Given the description of an element on the screen output the (x, y) to click on. 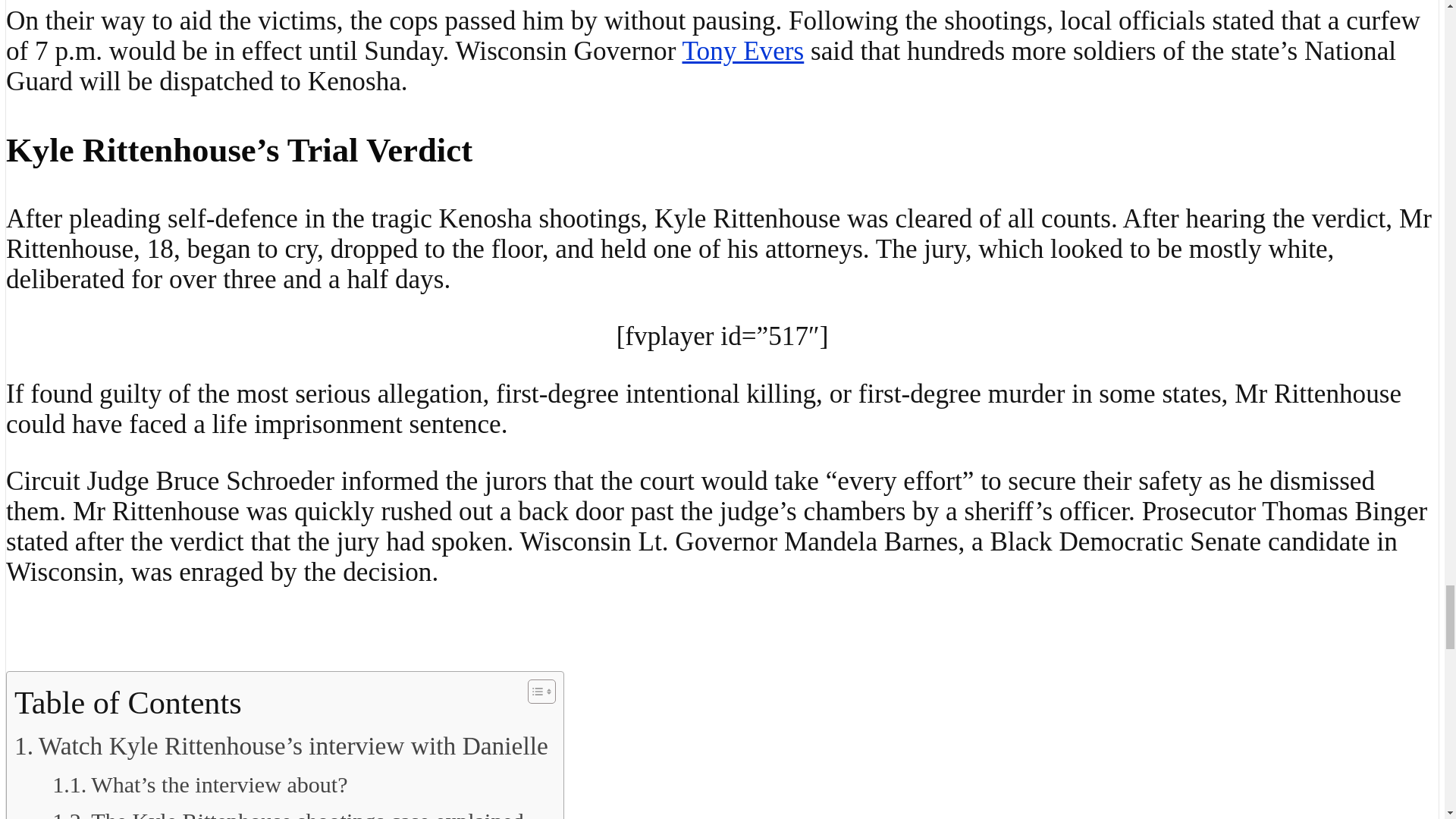
The Kyle Rittenhouse shootings case explained (288, 811)
